Given the description of an element on the screen output the (x, y) to click on. 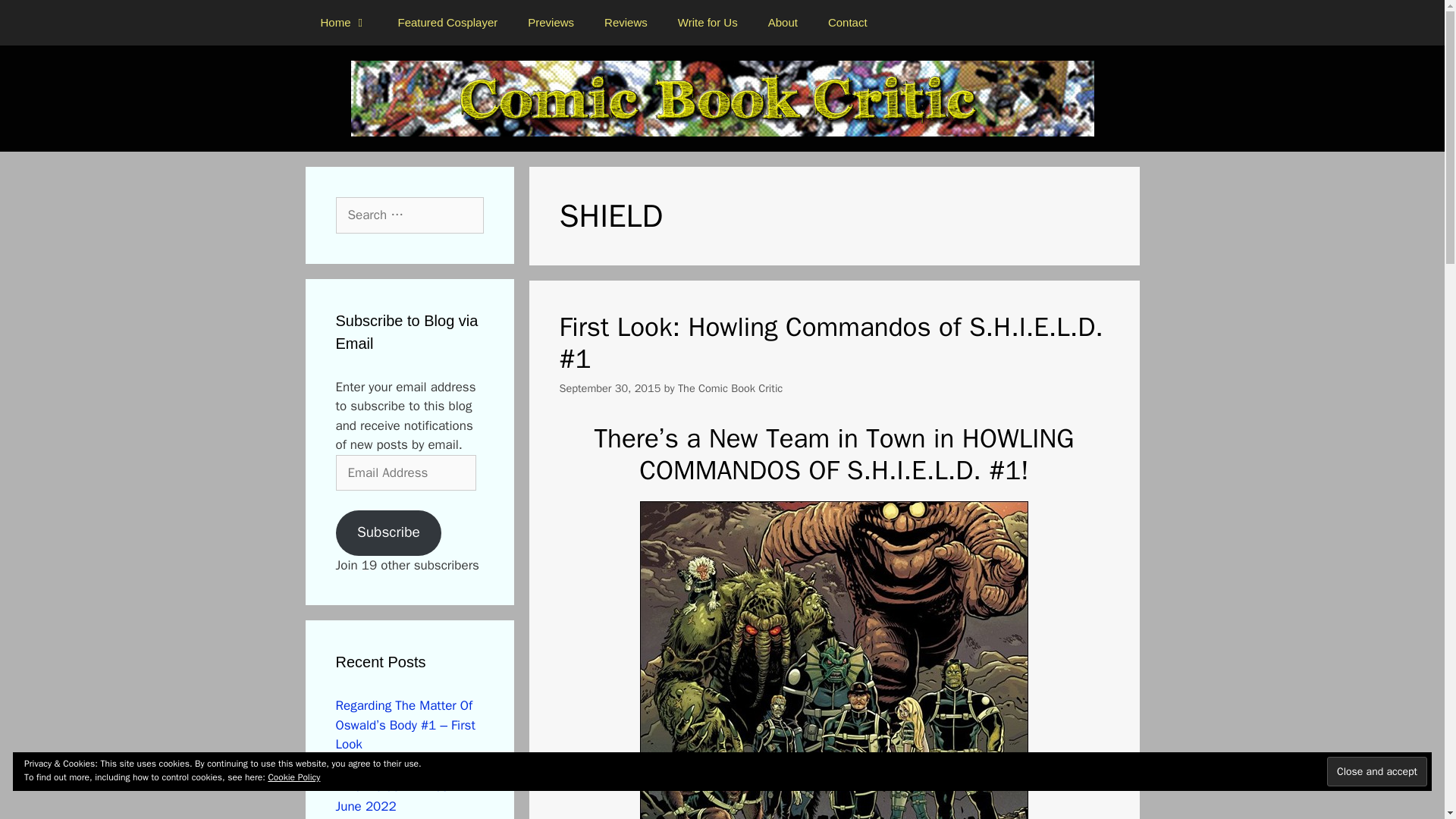
Previews (550, 22)
View all posts by The Comic Book Critic (730, 387)
Home (342, 22)
Search for: (408, 215)
Write for Us (707, 22)
Featured Cosplayer (447, 22)
Contact (847, 22)
Reviews (625, 22)
About (782, 22)
The Comic Book Critic (730, 387)
Close and accept (1376, 771)
